Given the description of an element on the screen output the (x, y) to click on. 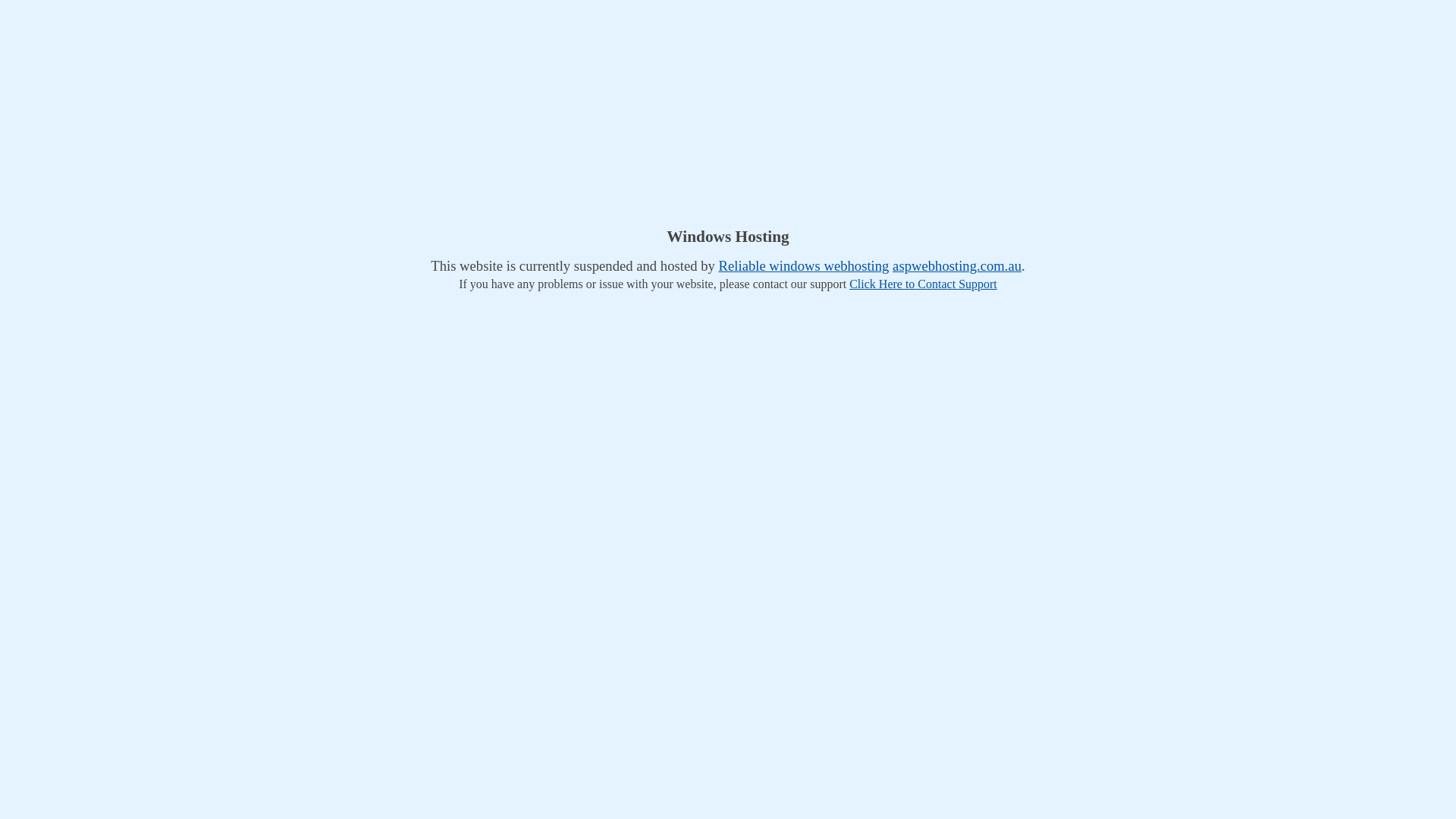
aspwebhosting.com.au Element type: text (956, 265)
Reliable windows webhosting Element type: text (803, 265)
Click Here to Contact Support Element type: text (923, 283)
